Given the description of an element on the screen output the (x, y) to click on. 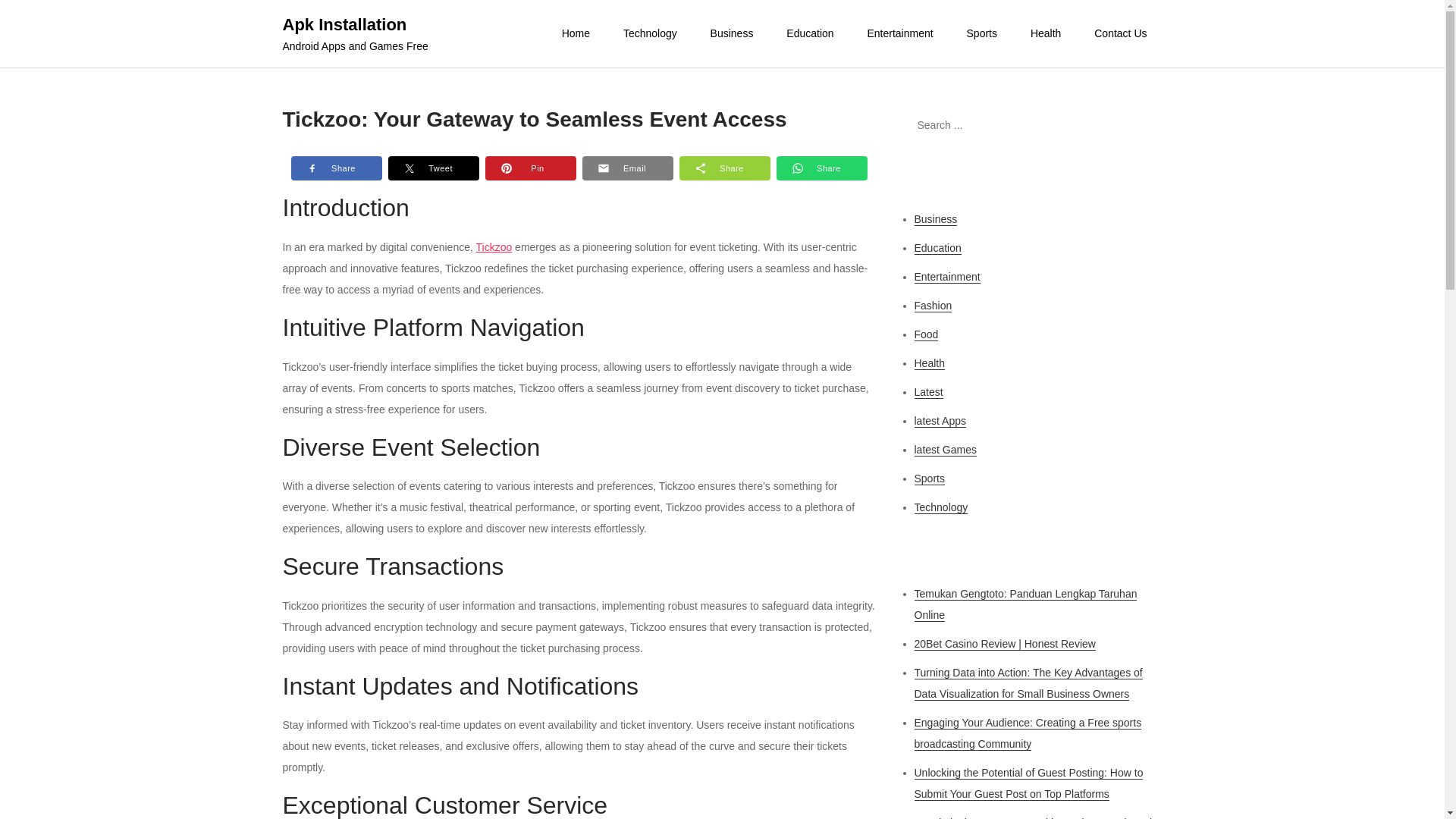
Food (926, 334)
Temukan Gengtoto: Panduan Lengkap Taruhan Online (1025, 604)
Contact Us (1119, 33)
Search (1142, 125)
Health (929, 363)
Latest (928, 391)
Technology (650, 33)
Education (809, 33)
Business (731, 33)
Entertainment (899, 33)
latest Apps (940, 420)
Sports (929, 478)
Business (936, 219)
